Given the description of an element on the screen output the (x, y) to click on. 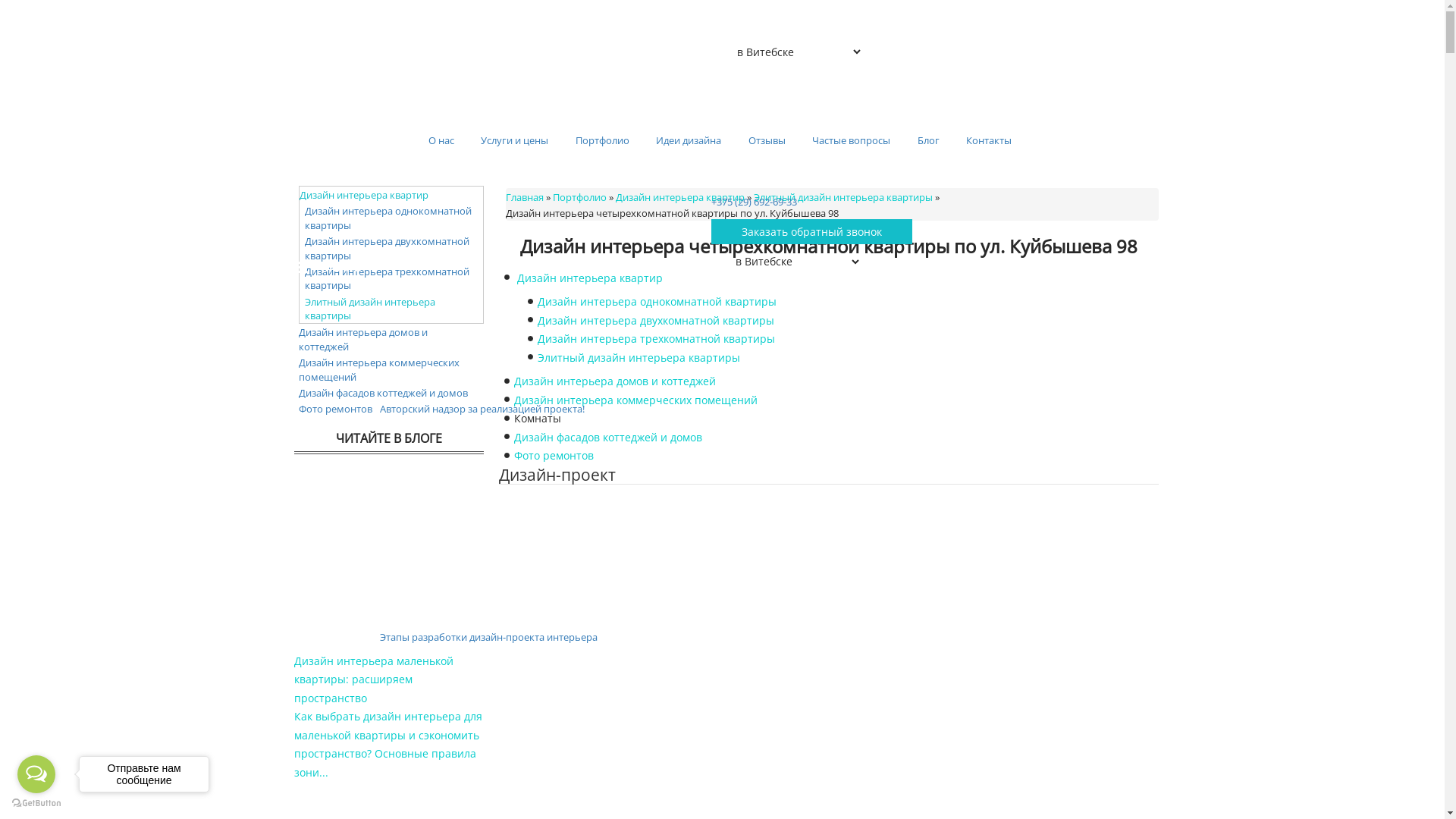
+375 (29) 692-69-33 Element type: text (754, 201)
